Given the description of an element on the screen output the (x, y) to click on. 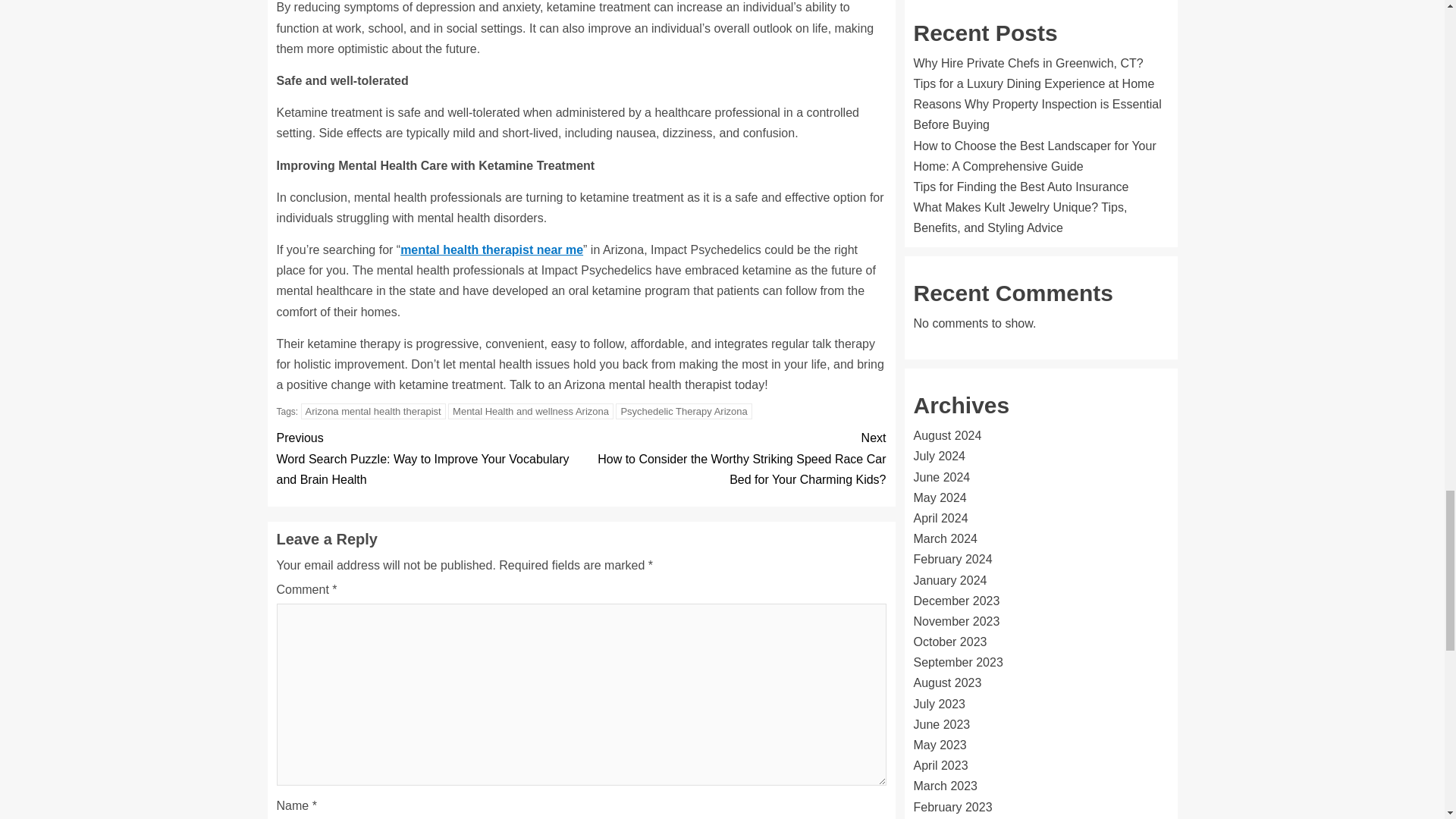
Mental Health and wellness Arizona (530, 411)
mental health therapist near me (491, 249)
Psychedelic Therapy Arizona (683, 411)
Arizona mental health therapist (373, 411)
